Given the description of an element on the screen output the (x, y) to click on. 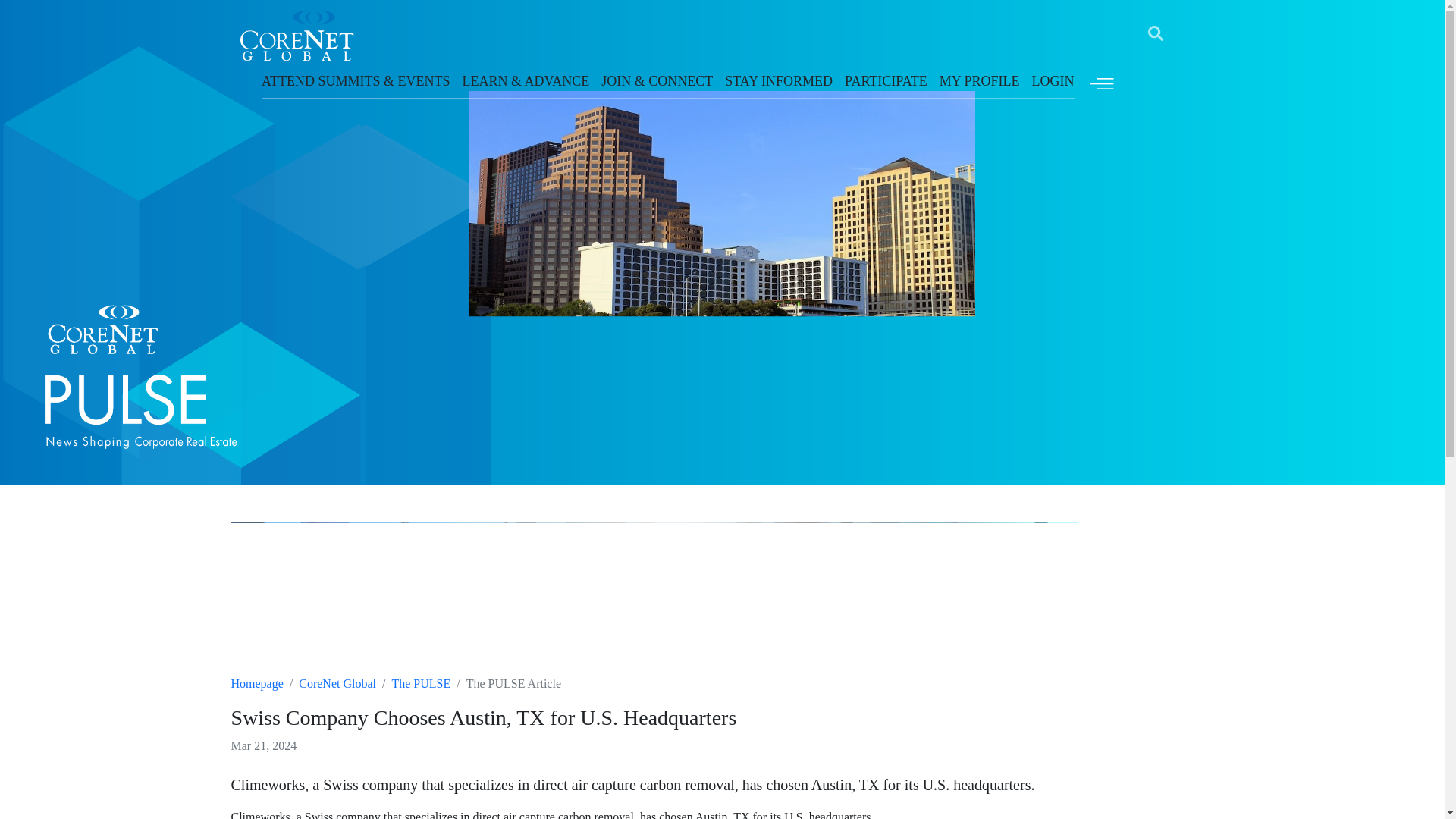
PARTICIPATE (885, 81)
STAY INFORMED (778, 81)
LOGIN (1053, 81)
MY PROFILE (979, 81)
